Given the description of an element on the screen output the (x, y) to click on. 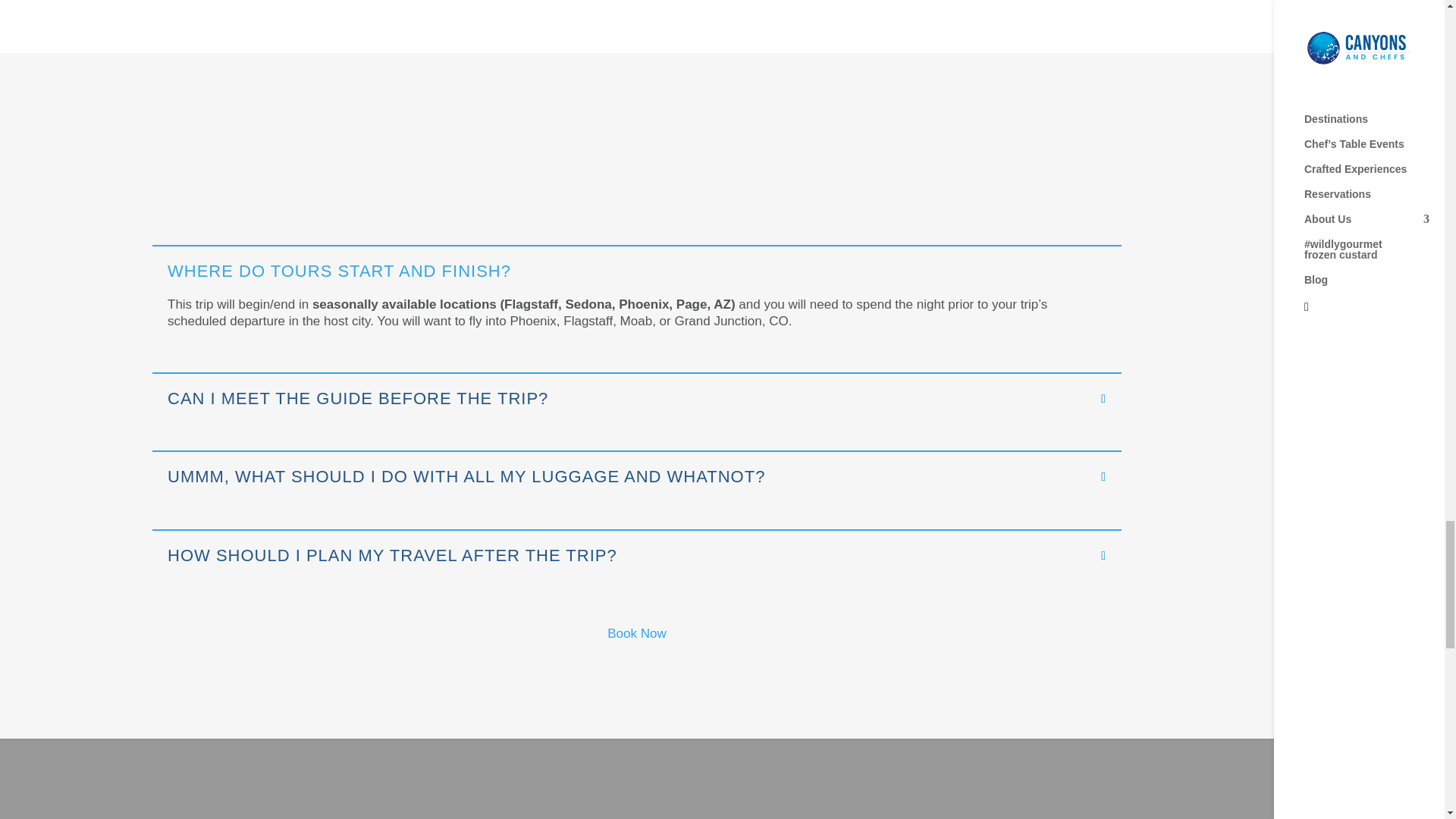
Book Now (636, 633)
